Given the description of an element on the screen output the (x, y) to click on. 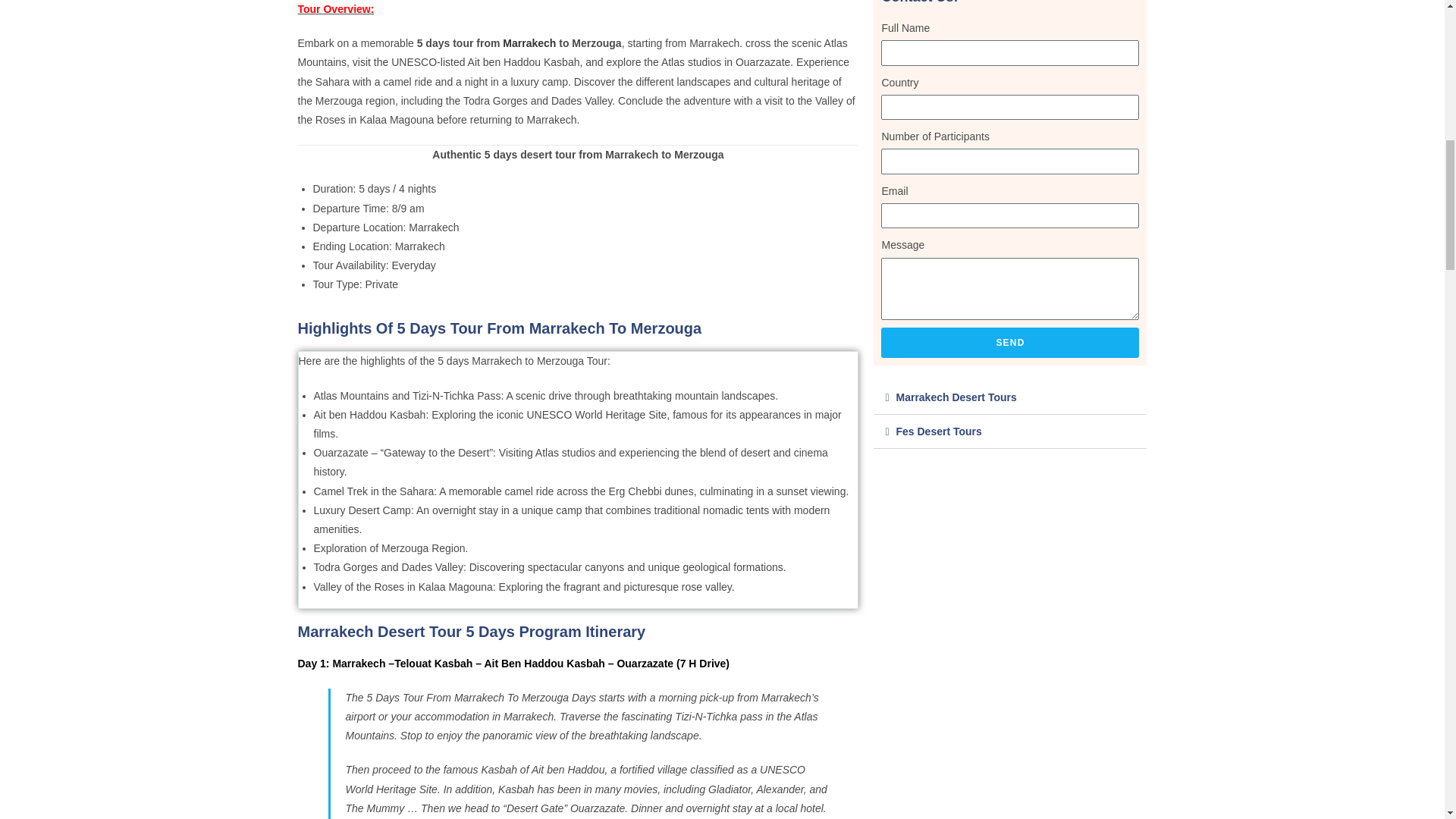
Marrakech (529, 42)
Fes Desert Tours (938, 431)
Marrakech Desert Tours (955, 397)
SEND (1009, 342)
